Given the description of an element on the screen output the (x, y) to click on. 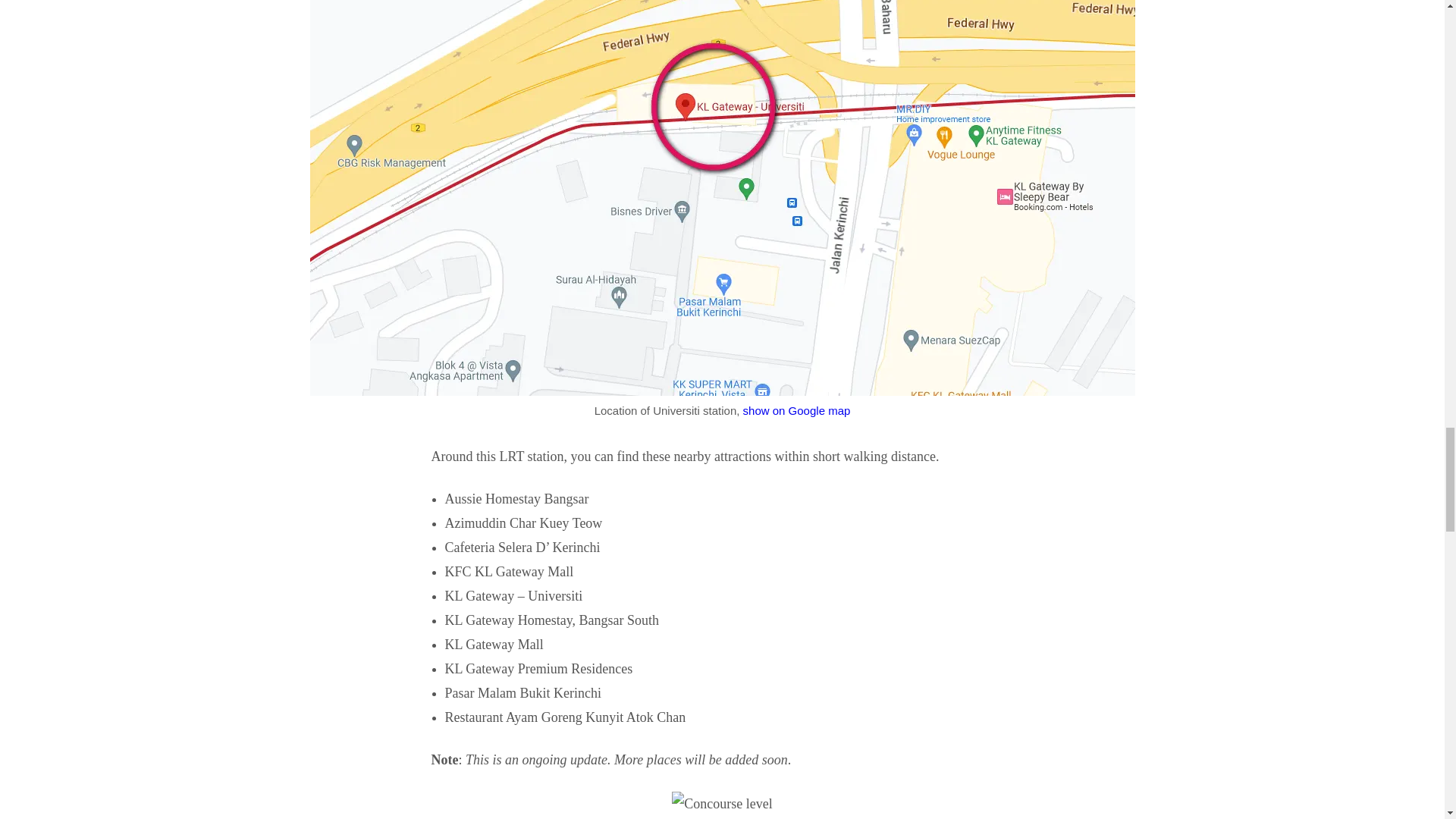
show on Google map (796, 410)
